Given the description of an element on the screen output the (x, y) to click on. 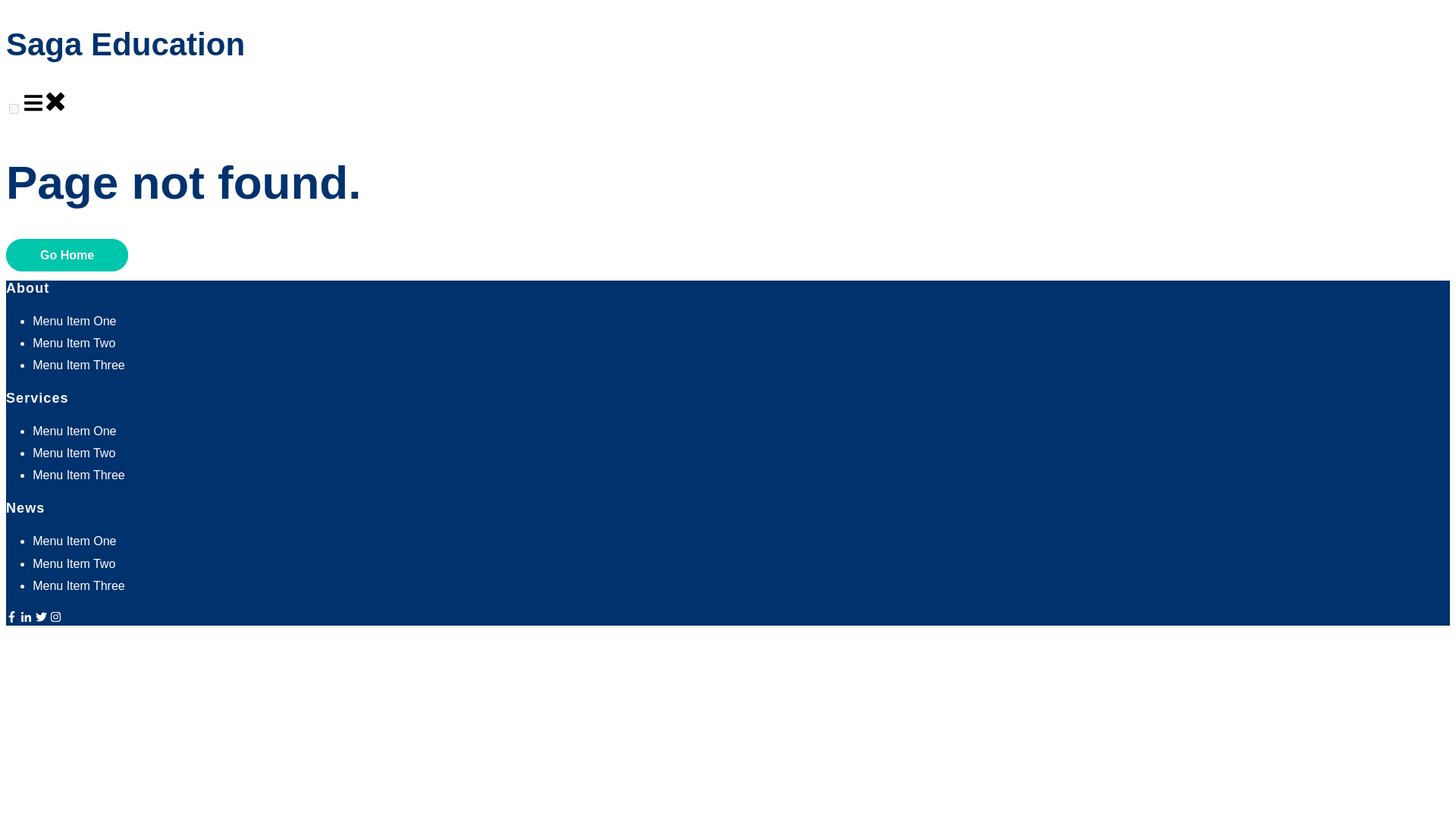
Menu Item Two (73, 342)
Go Home (66, 255)
Menu Item Three (78, 474)
Menu Item Two (73, 452)
Menu Item Three (78, 364)
on (13, 108)
Menu Item Three (78, 585)
Menu Item Two (73, 562)
Menu Item One (74, 320)
Menu Item One (74, 431)
